Given the description of an element on the screen output the (x, y) to click on. 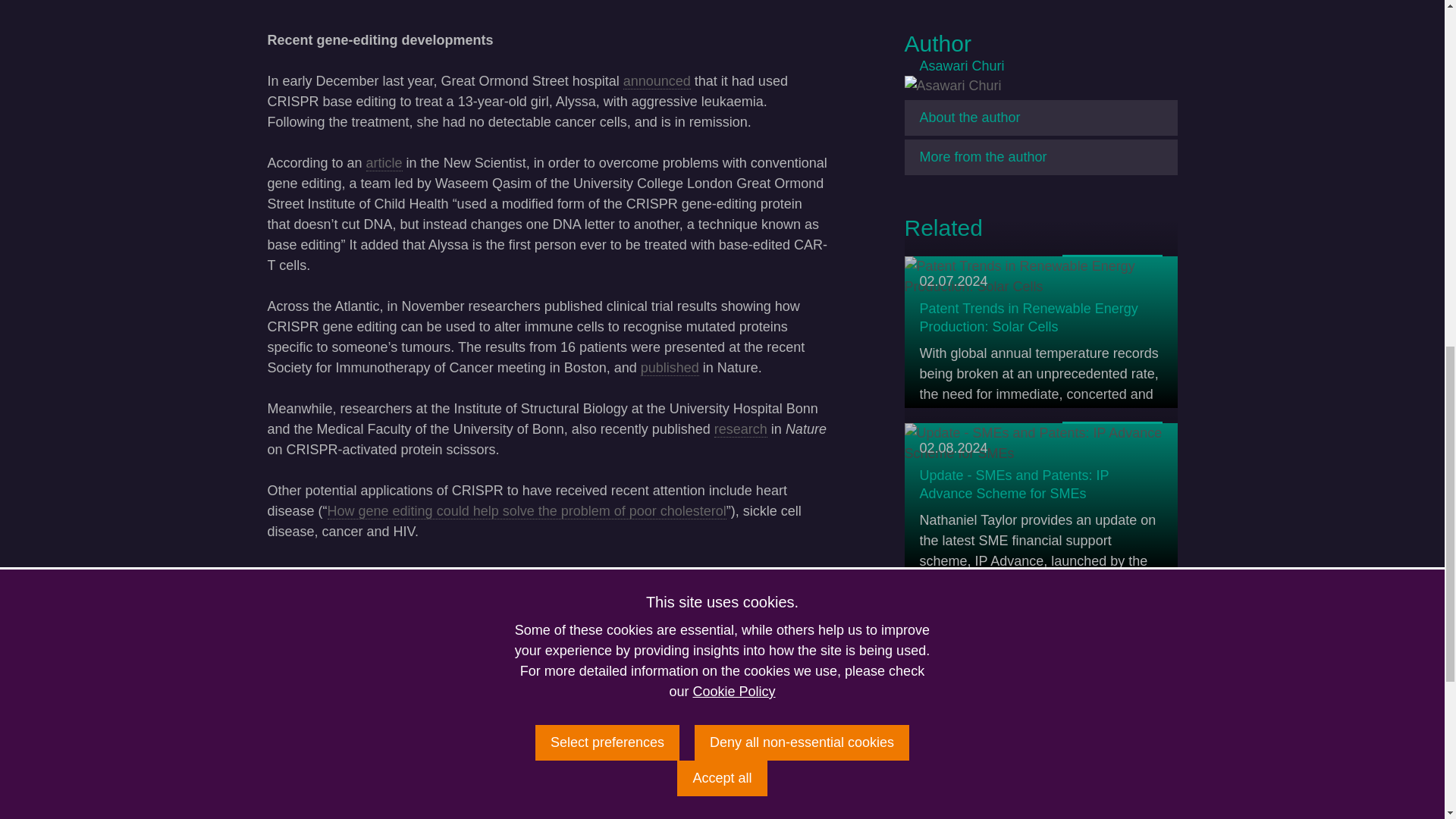
article (384, 163)
Asawari Churi (952, 86)
published (669, 367)
research (740, 429)
announced (656, 81)
